Given the description of an element on the screen output the (x, y) to click on. 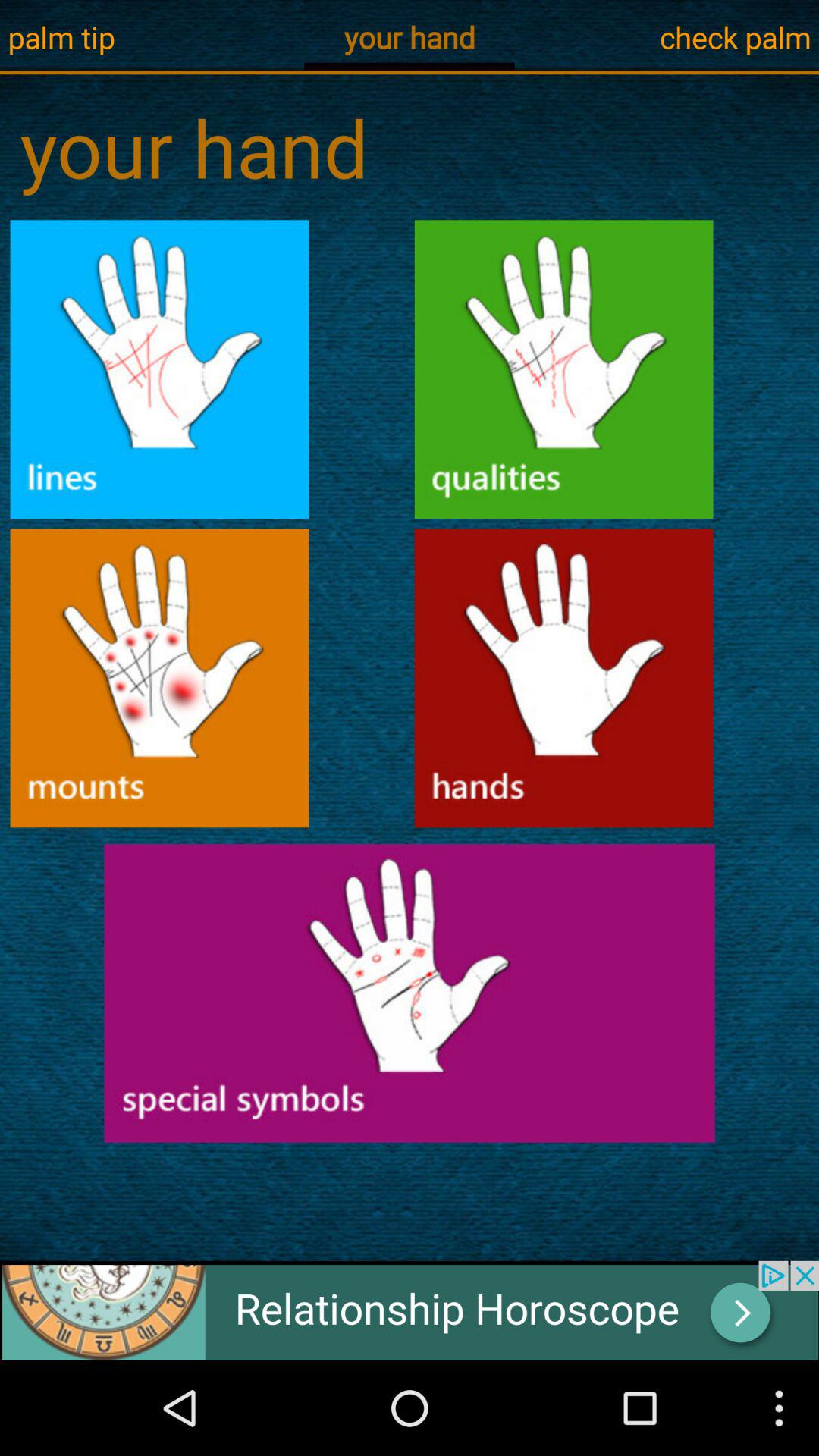
choose mounts (159, 677)
